Given the description of an element on the screen output the (x, y) to click on. 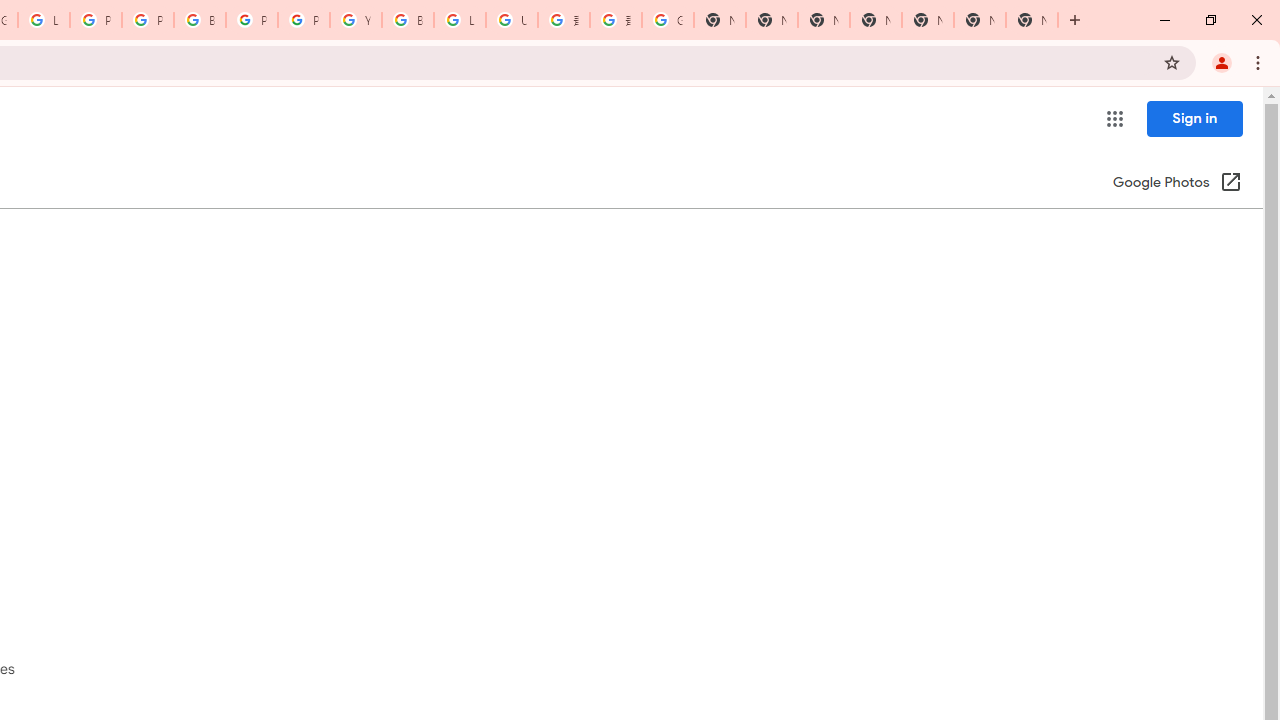
Google apps (1114, 118)
New Tab (1075, 20)
Google Photos (Open in a new window) (1177, 183)
Bookmark this tab (1171, 62)
Restore (1210, 20)
Google Images (667, 20)
Close (1256, 20)
Minimize (1165, 20)
Chrome (1260, 62)
